Given the description of an element on the screen output the (x, y) to click on. 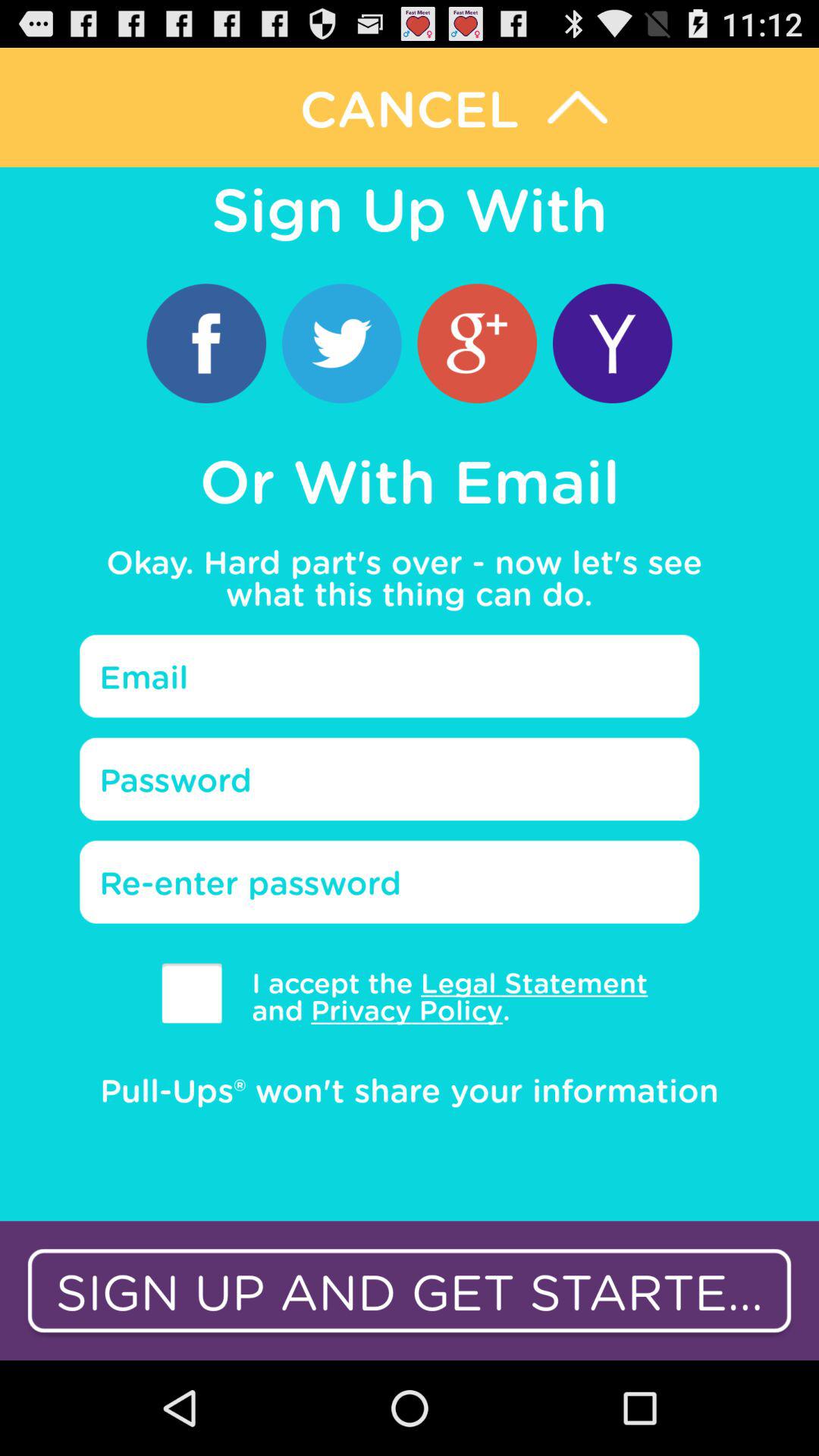
cancel an advertisement (409, 107)
